Given the description of an element on the screen output the (x, y) to click on. 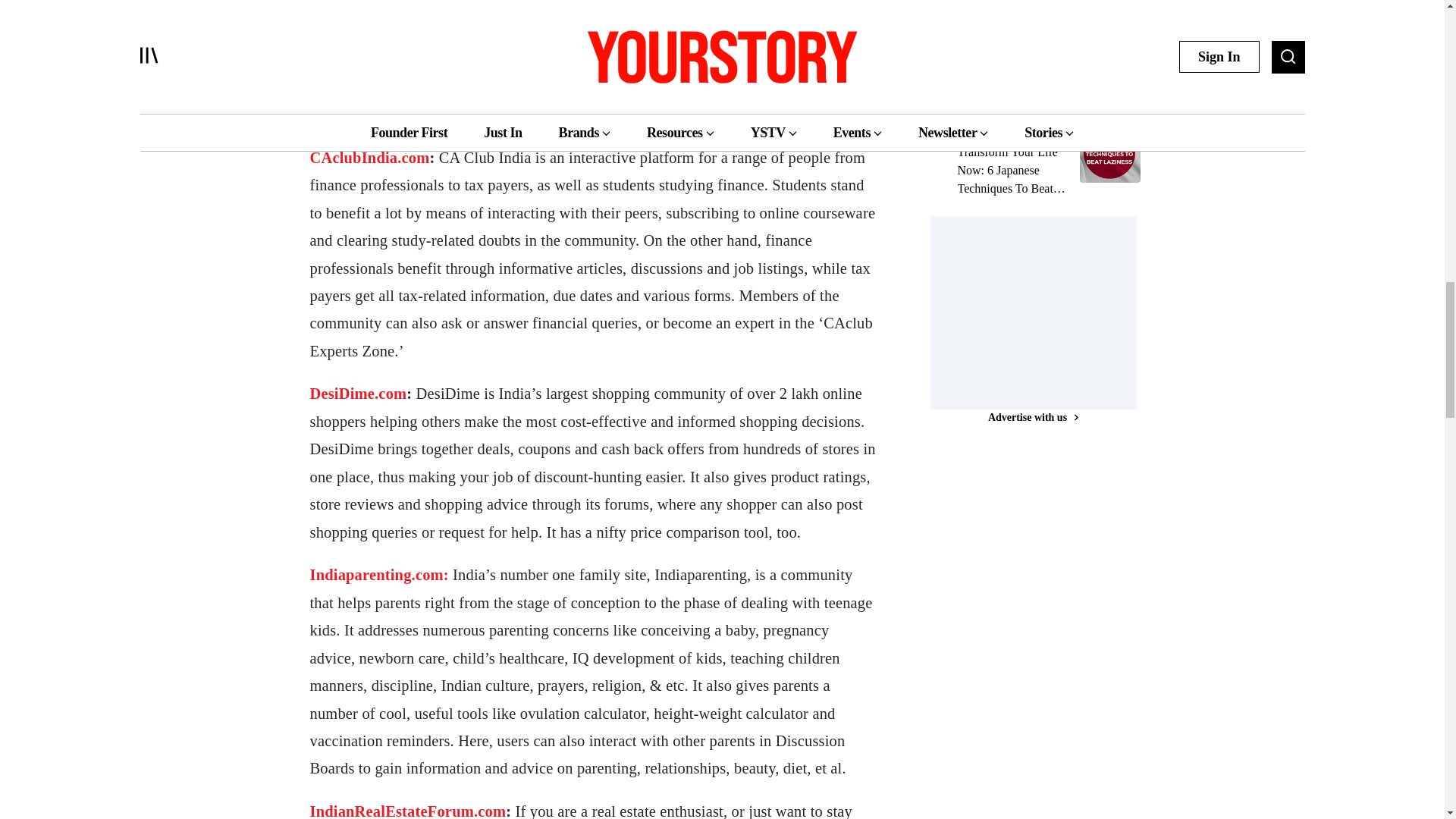
Indiaparenting.com:  (380, 574)
CAclubIndia.com (368, 157)
3rd party ad content (1043, 310)
DesiDime.com (357, 393)
IndianRealEstateForum.com (406, 811)
